Given the description of an element on the screen output the (x, y) to click on. 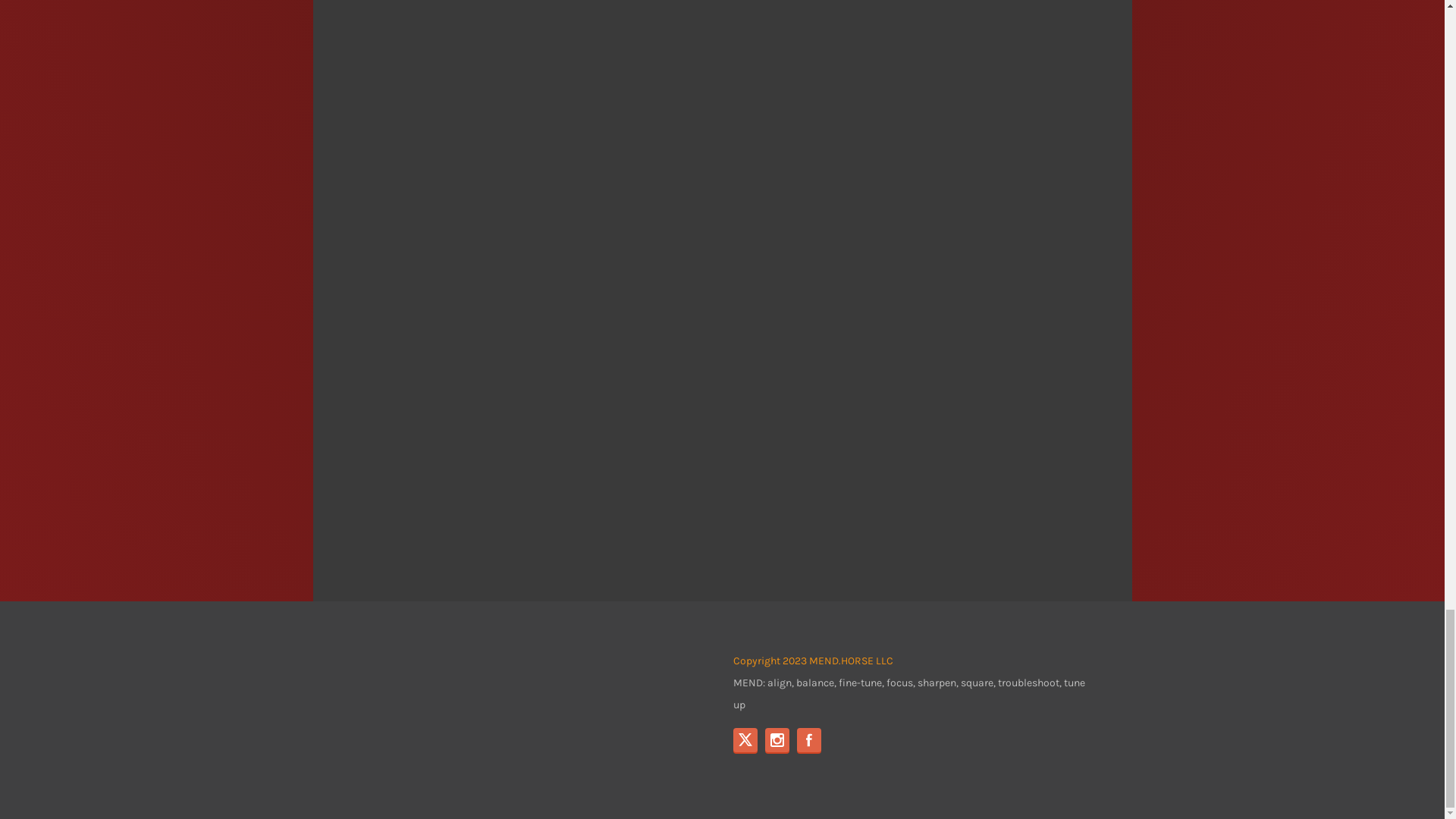
Twitter (745, 740)
Instagram (777, 740)
Facebook (808, 740)
